Given the description of an element on the screen output the (x, y) to click on. 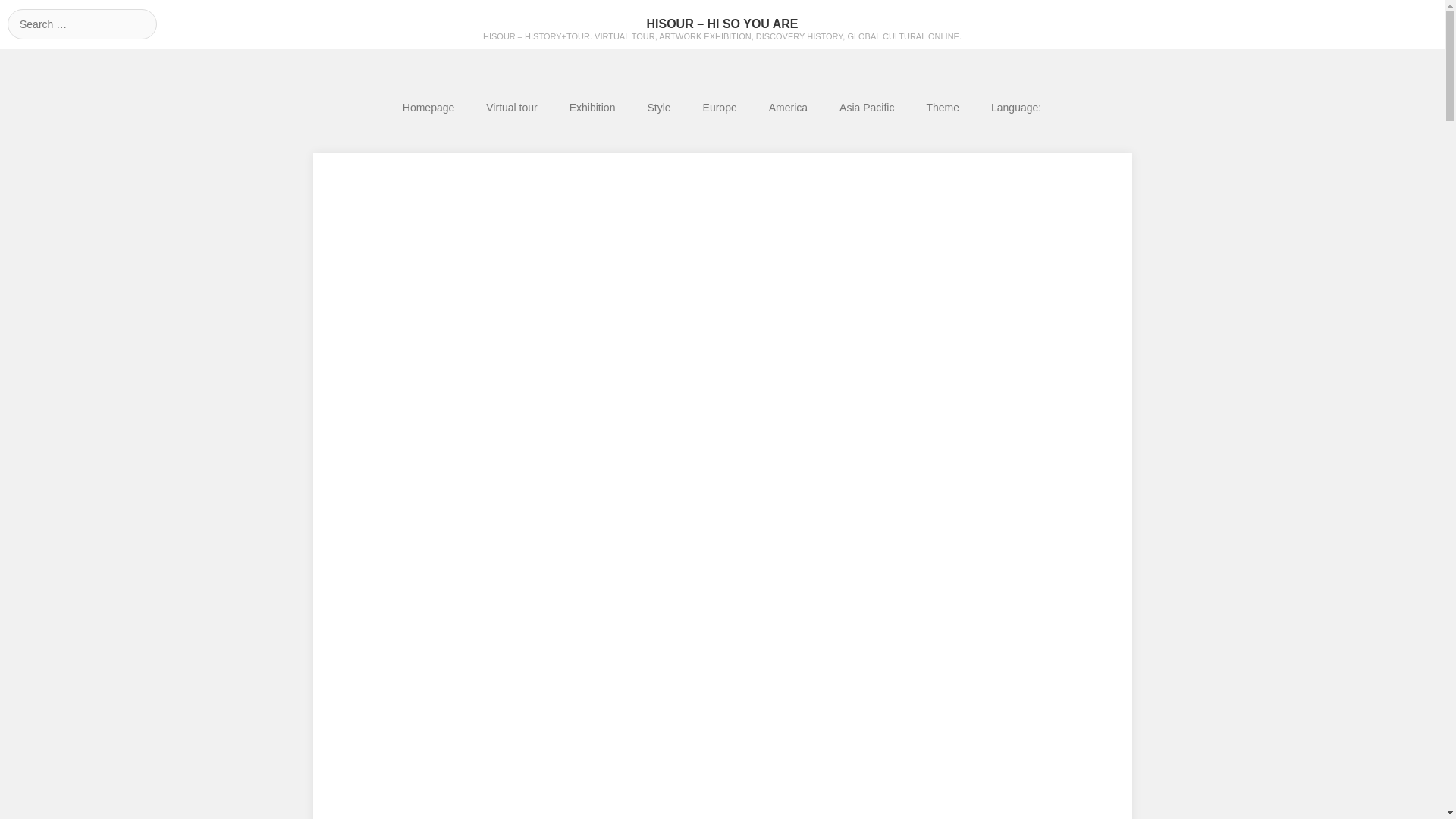
Exhibition (592, 107)
English (1016, 107)
Search for: (82, 24)
Virtual tour (511, 107)
Europe (719, 107)
Homepage (428, 107)
Style (657, 107)
